Given the description of an element on the screen output the (x, y) to click on. 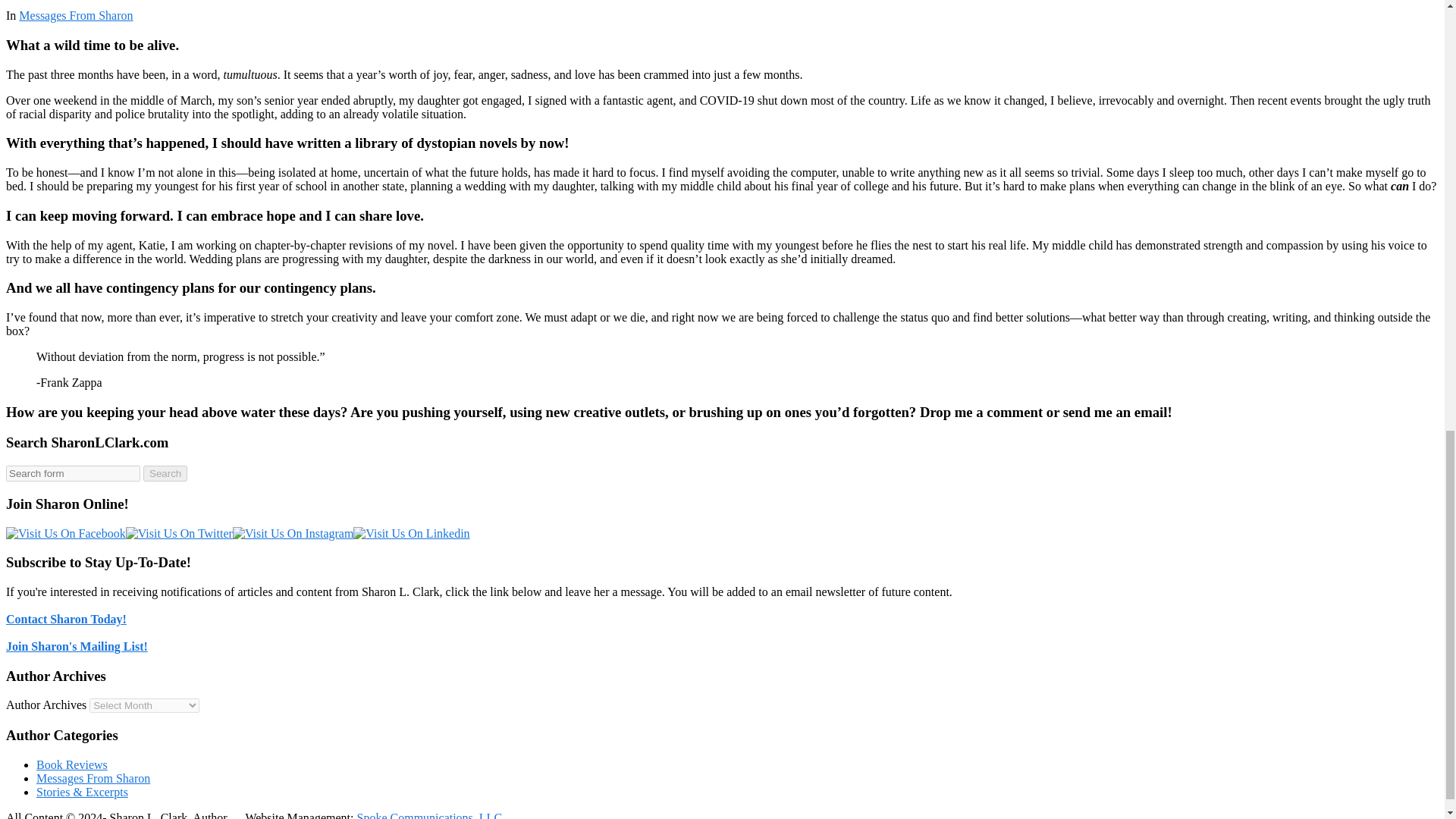
Messages From Sharon (75, 15)
Messages From Sharon (92, 778)
Visit Us On Twitter (178, 533)
Contact Sharon Today! (65, 618)
Visit Us On Instagram (292, 533)
Search (164, 473)
Visit Us On Facebook (65, 533)
Visit Us On Linkedin (410, 533)
Book Reviews (71, 764)
Join Sharon's Mailing List! (76, 645)
